Given the description of an element on the screen output the (x, y) to click on. 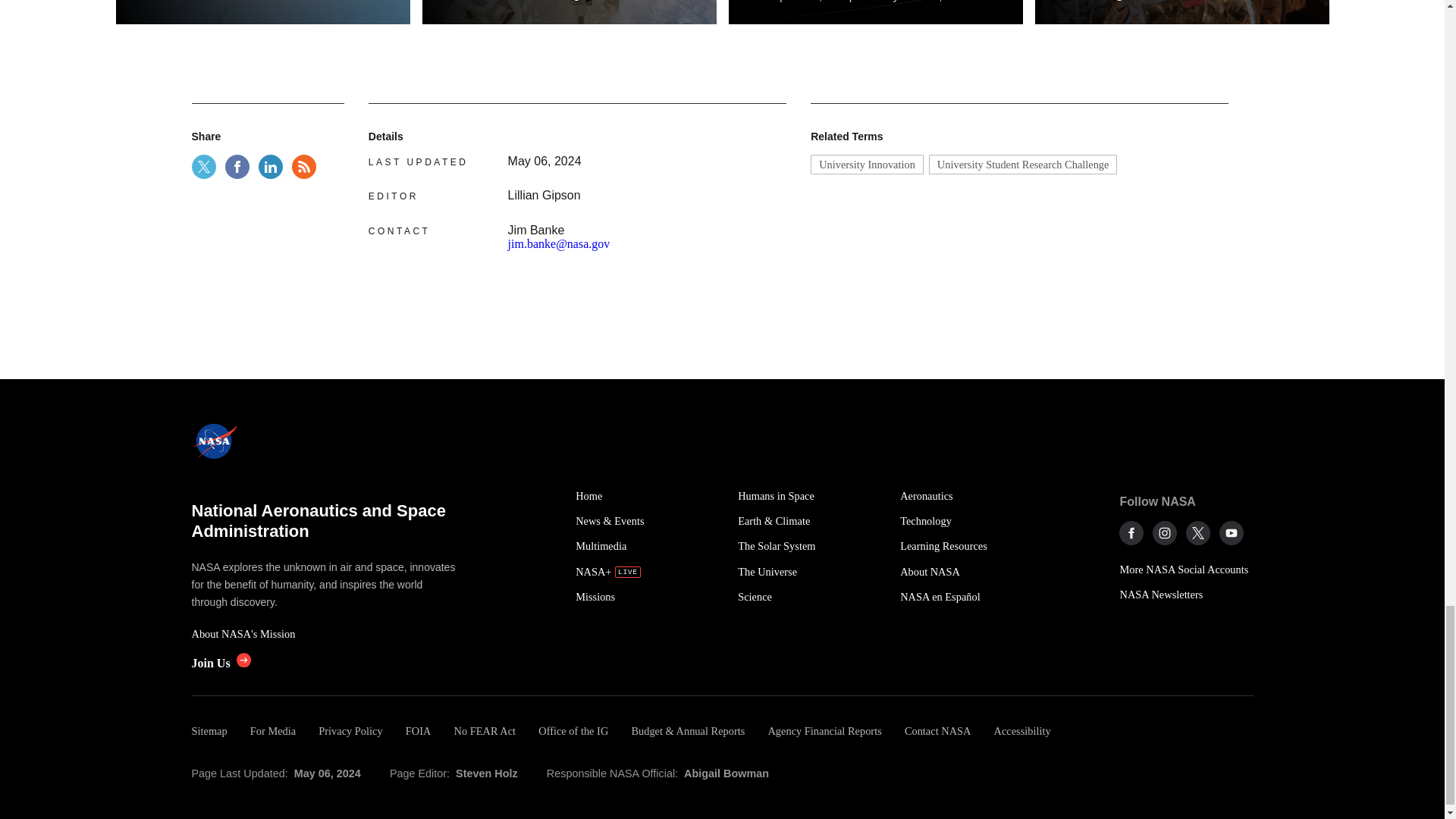
NASA on YouTube (1231, 532)
NASA on X (1197, 532)
NASA on Facebook (1130, 532)
NASA on Instagram (1164, 532)
